Given the description of an element on the screen output the (x, y) to click on. 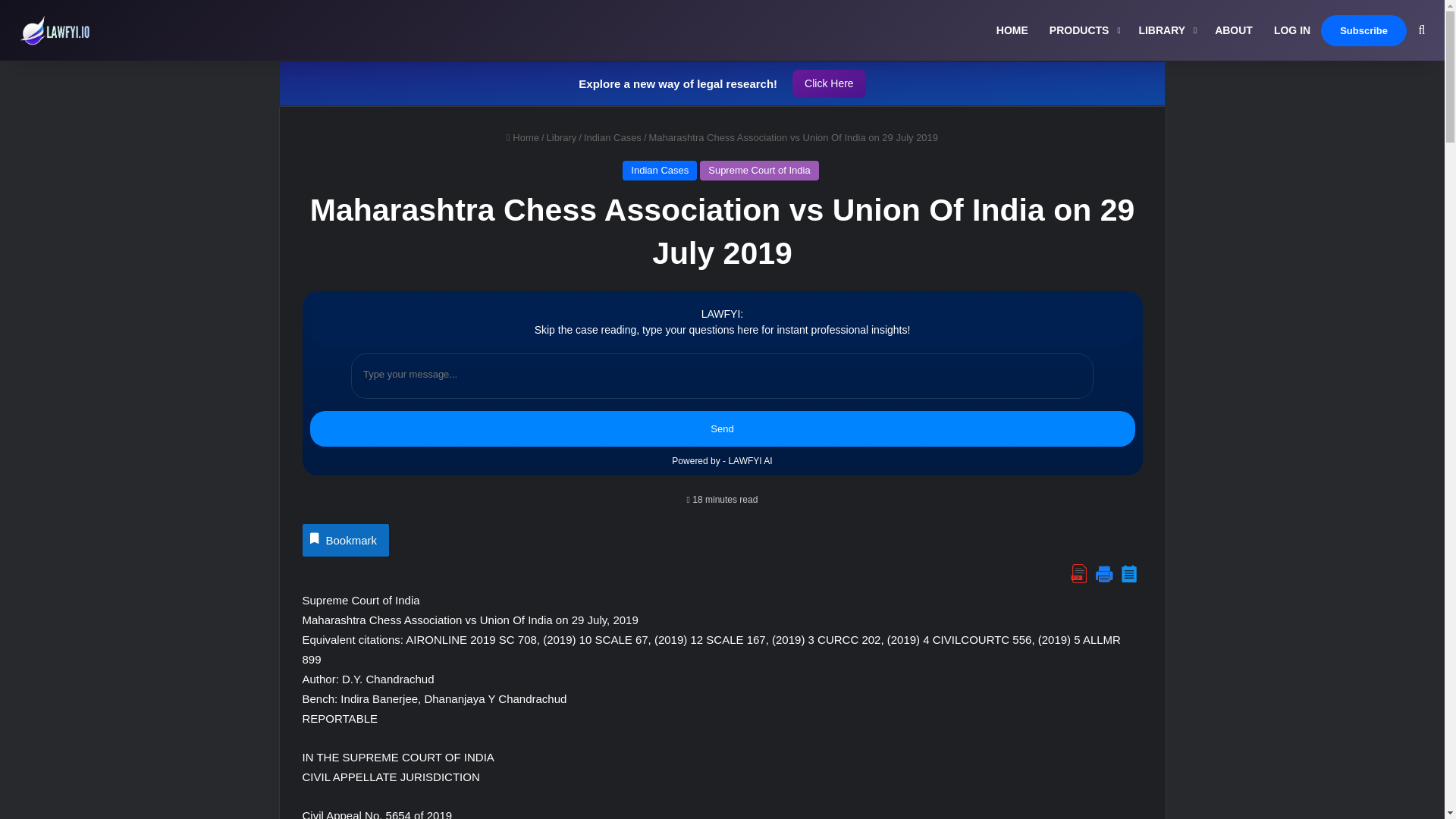
Bookmark (344, 540)
Home (522, 137)
LIBRARY (1165, 30)
Subscribe (1363, 30)
Subscribe (1363, 30)
Click Here (829, 83)
PRODUCTS (1083, 30)
Send (721, 429)
LOG IN (1291, 30)
LAWFYI.IO (57, 30)
